Given the description of an element on the screen output the (x, y) to click on. 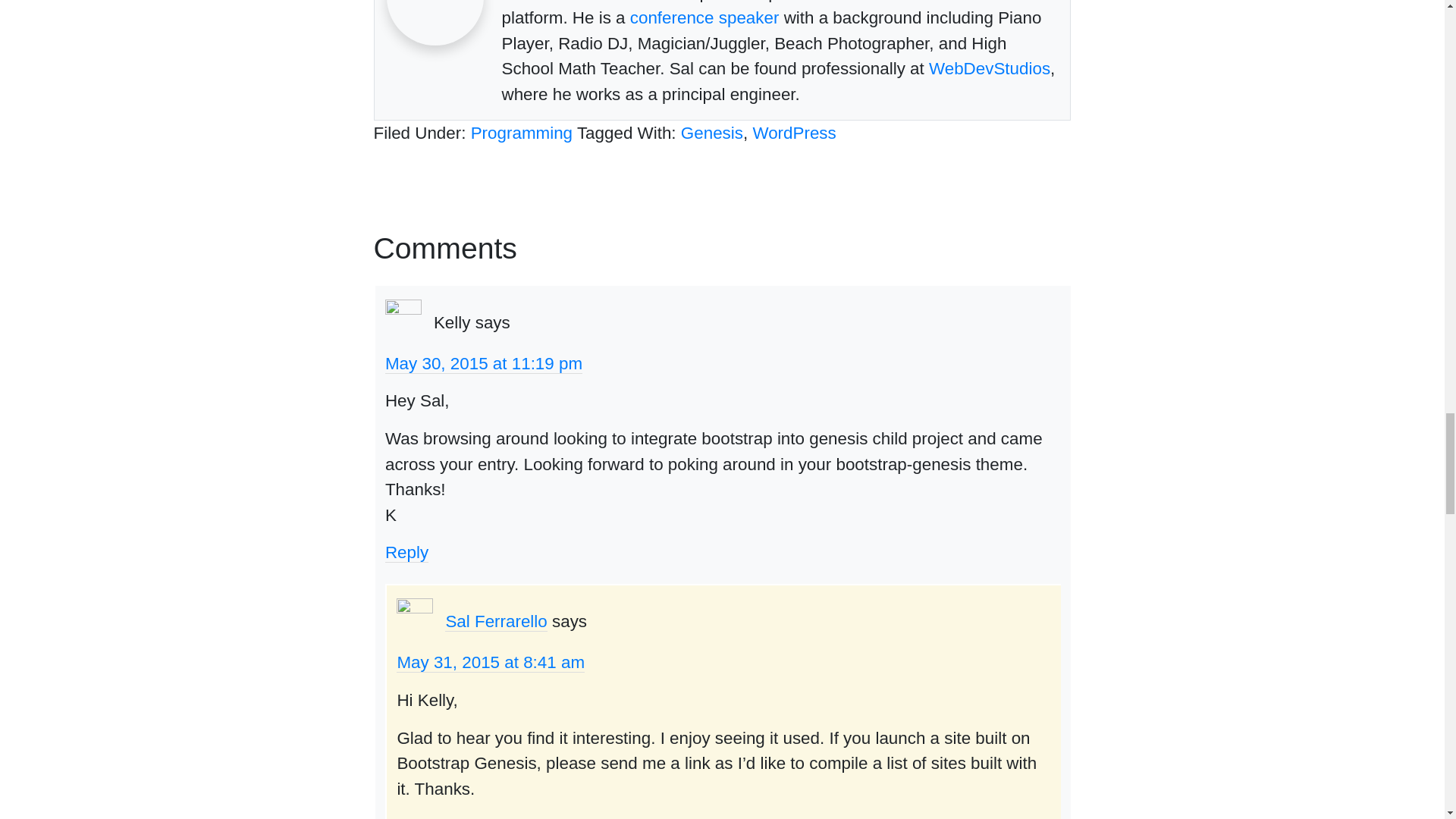
May 30, 2015 at 11:19 pm (483, 363)
conference speaker (704, 17)
Reply (417, 818)
Sal Ferrarello (496, 621)
Programming (521, 132)
WebDevStudios (988, 67)
May 31, 2015 at 8:41 am (490, 662)
WordPress (793, 132)
Reply (406, 552)
Genesis (711, 132)
